Given the description of an element on the screen output the (x, y) to click on. 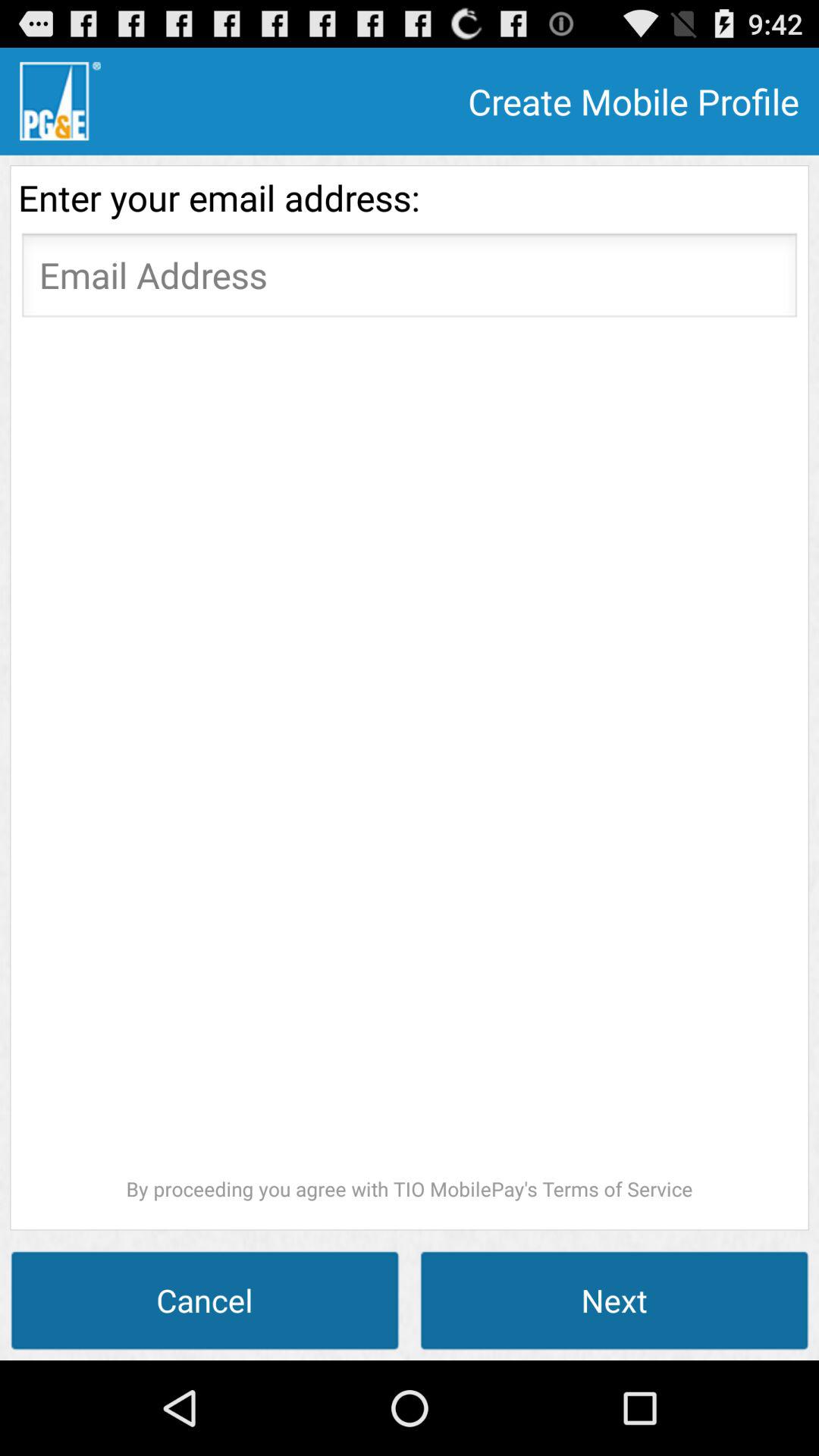
tap the cancel icon (204, 1300)
